Given the description of an element on the screen output the (x, y) to click on. 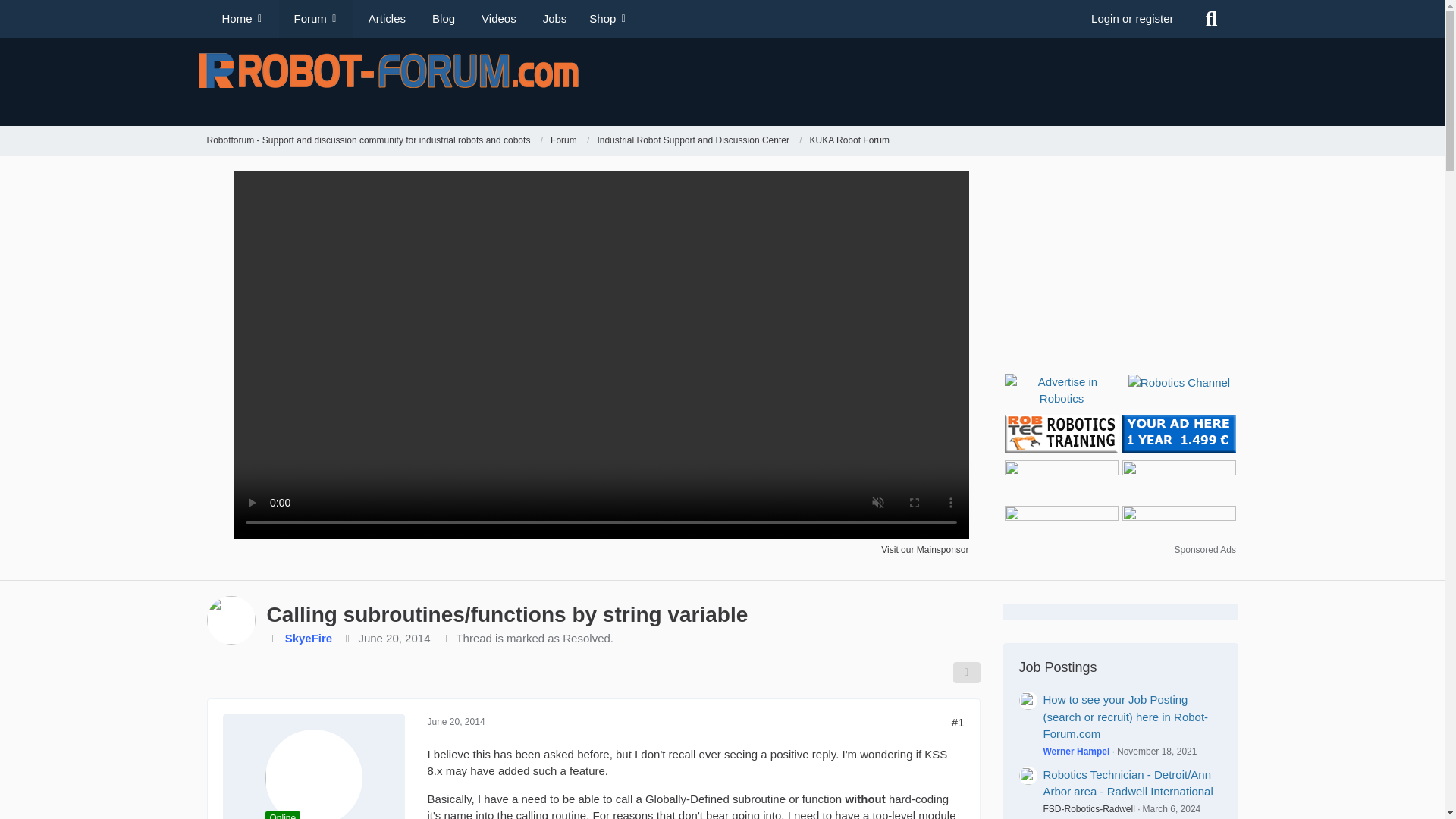
Videos (496, 18)
Jobs (552, 18)
Industrial Robot Support and Discussion Center (692, 141)
Your browser does not support videos (600, 534)
KUKA Robot Forum (849, 141)
Blog (440, 18)
SkyeFire is online (282, 815)
Forum (563, 141)
Forum (569, 141)
